Given the description of an element on the screen output the (x, y) to click on. 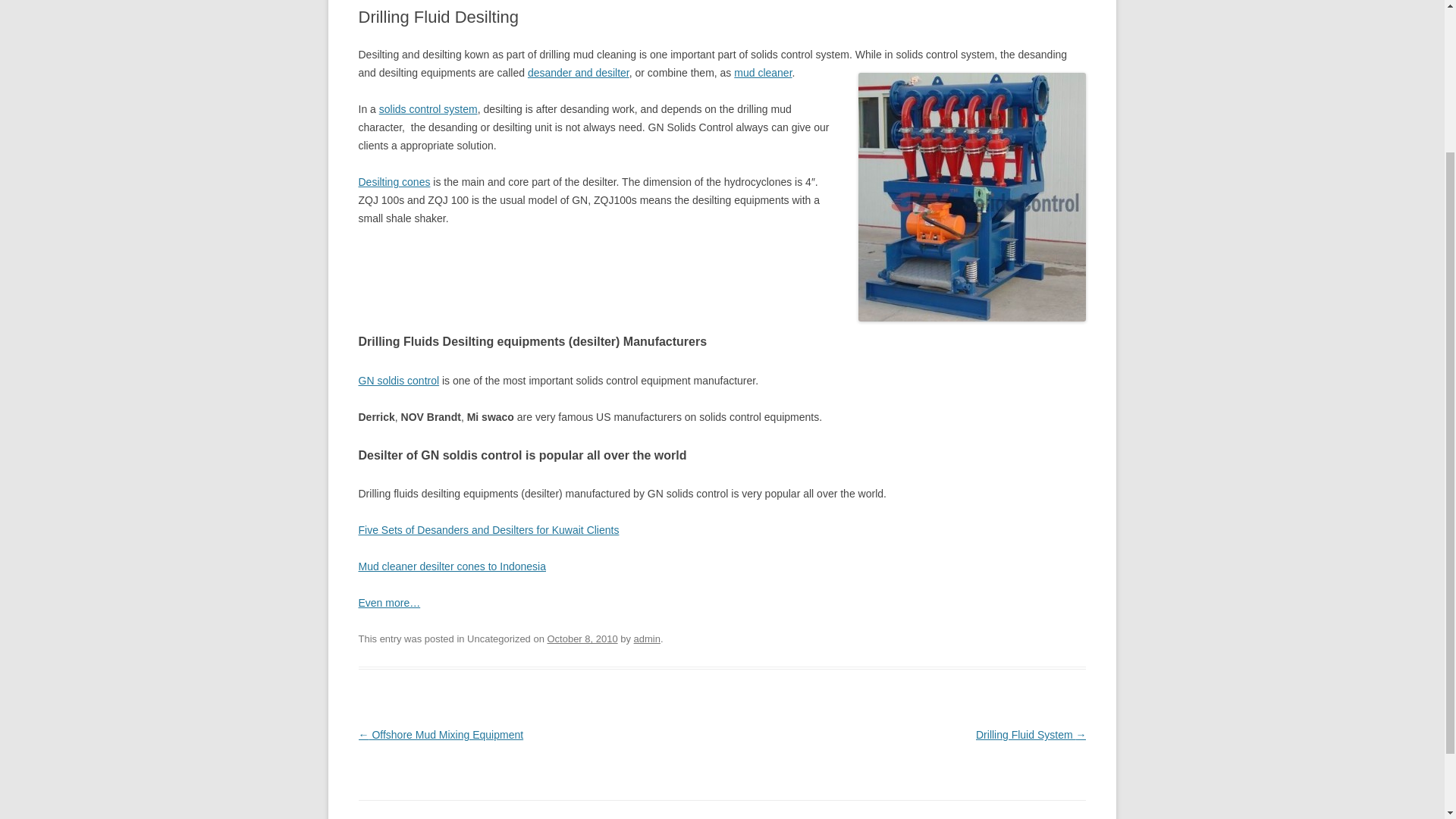
admin (647, 638)
GN solids control (398, 380)
October 8, 2010 (582, 638)
solids control system (427, 109)
solids control system (427, 109)
GN soldis control (398, 380)
mud clearner (762, 72)
Desilting cones (393, 182)
View all posts by admin (647, 638)
drilling fluids cones (393, 182)
12:06 am (582, 638)
mud cleaner (762, 72)
Five Sets of Desanders and Desilters for Kuwait Clients (488, 530)
drilling mud desilting equipments (972, 196)
desander and desilter (577, 72)
